Given the description of an element on the screen output the (x, y) to click on. 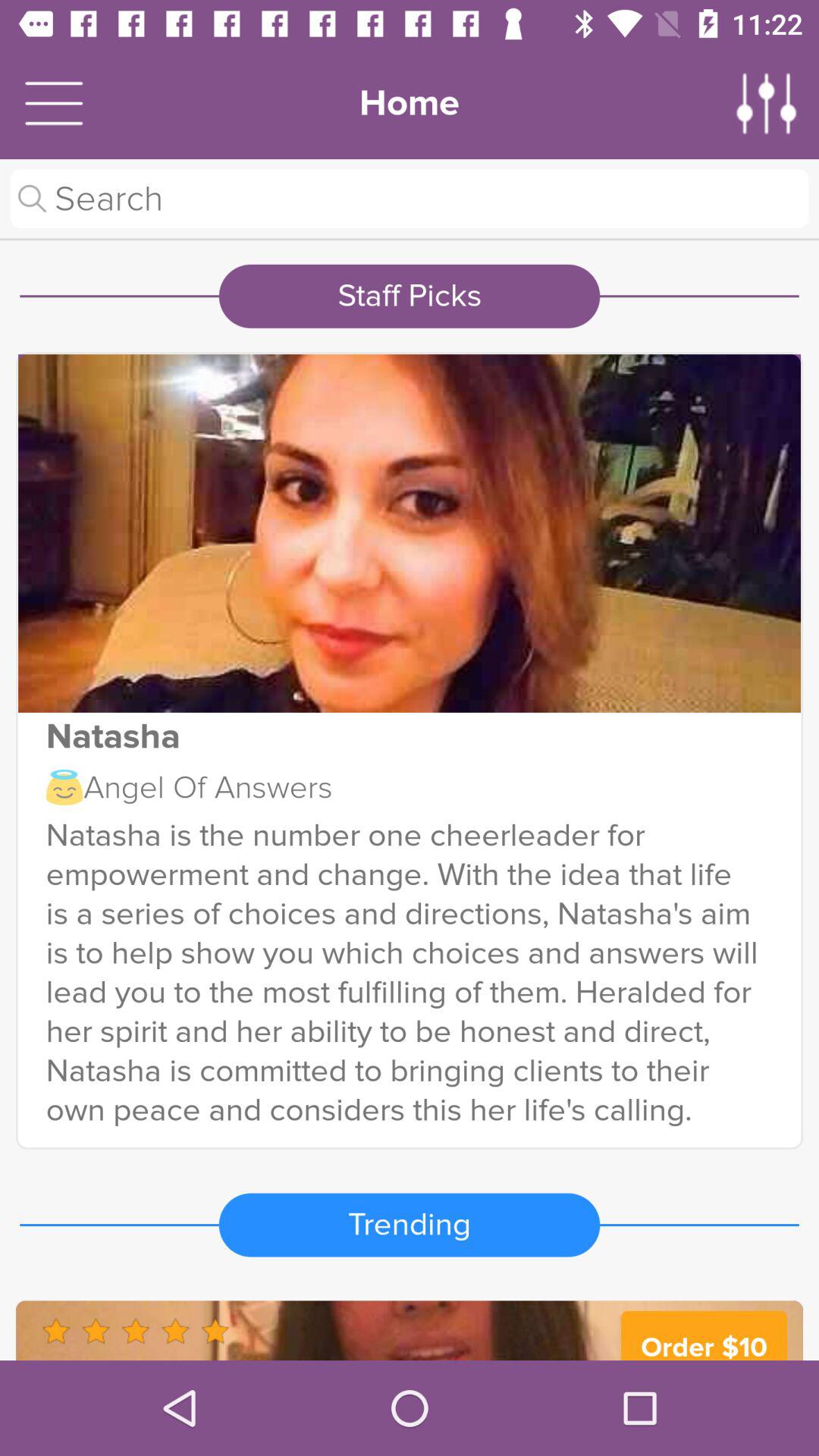
search profiles (409, 198)
